Given the description of an element on the screen output the (x, y) to click on. 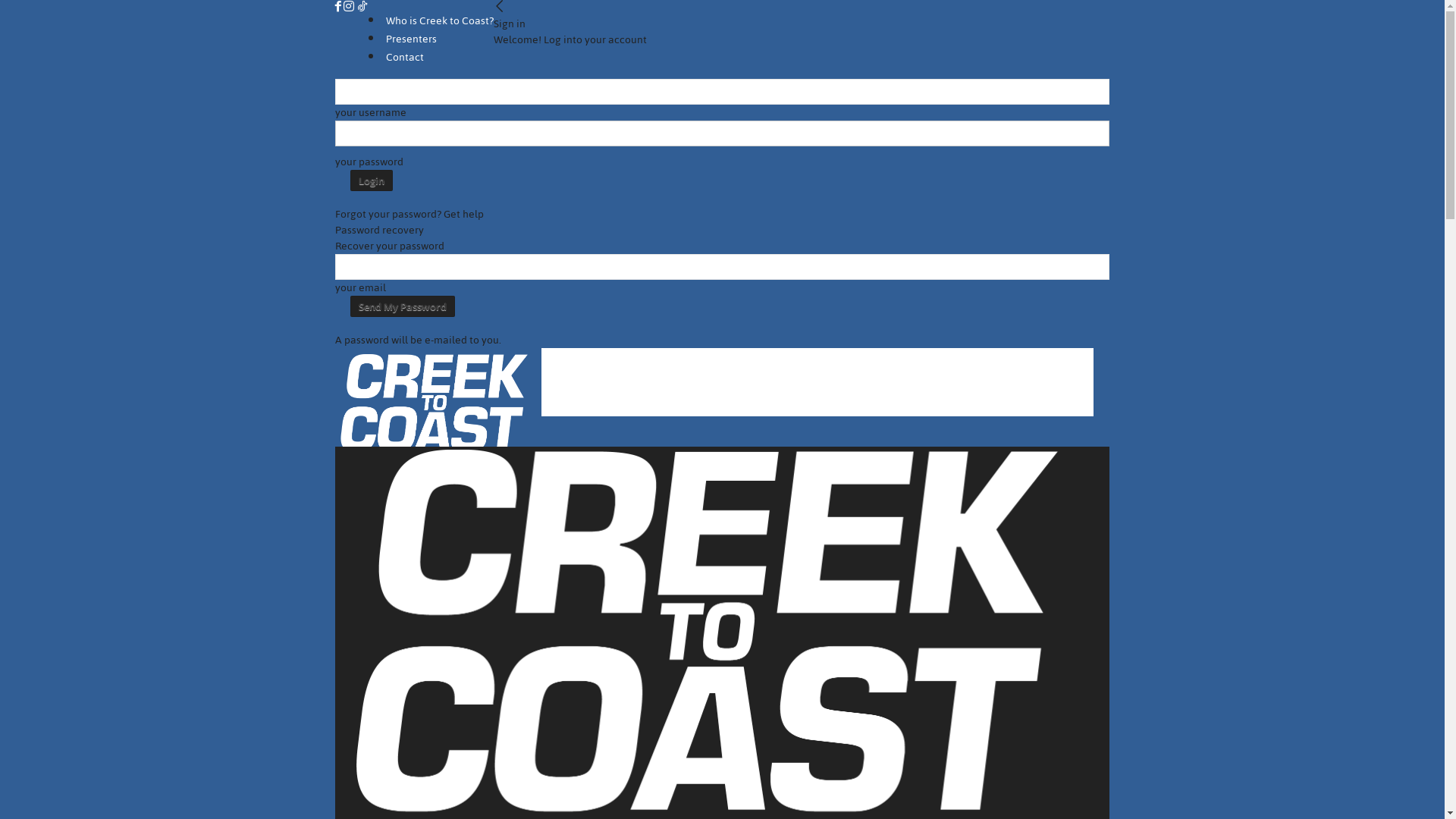
Forgot your password? Get help Element type: text (409, 213)
Presenters Element type: text (410, 38)
Who is Creek to Coast? Element type: text (439, 20)
Contact Element type: text (404, 57)
Creek To Coast Element type: text (438, 397)
Advertisement Element type: hover (817, 382)
